Given the description of an element on the screen output the (x, y) to click on. 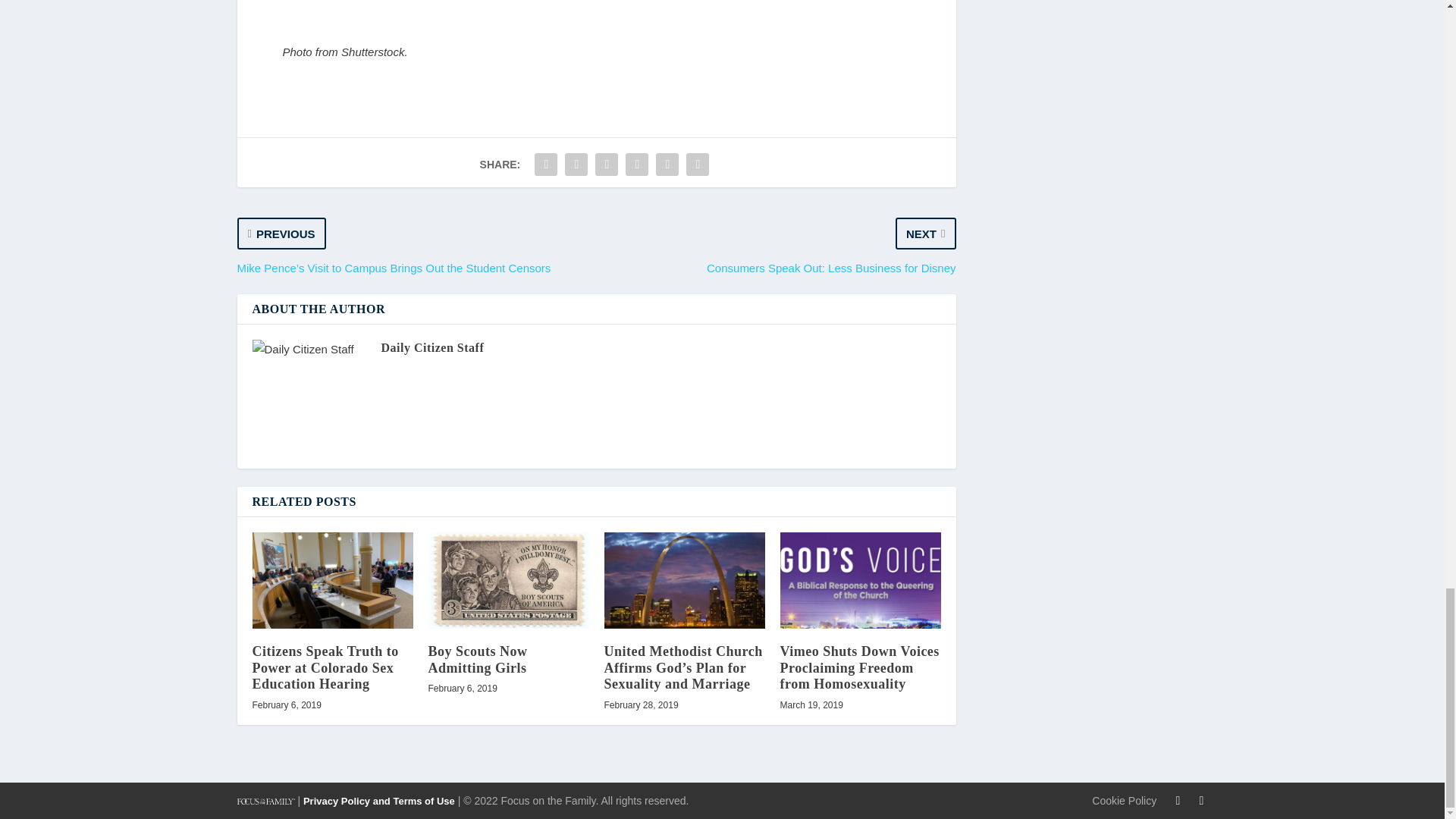
View all posts by Daily Citizen Staff (431, 347)
Boy Scouts Now Admitting Girls (508, 580)
